Given the description of an element on the screen output the (x, y) to click on. 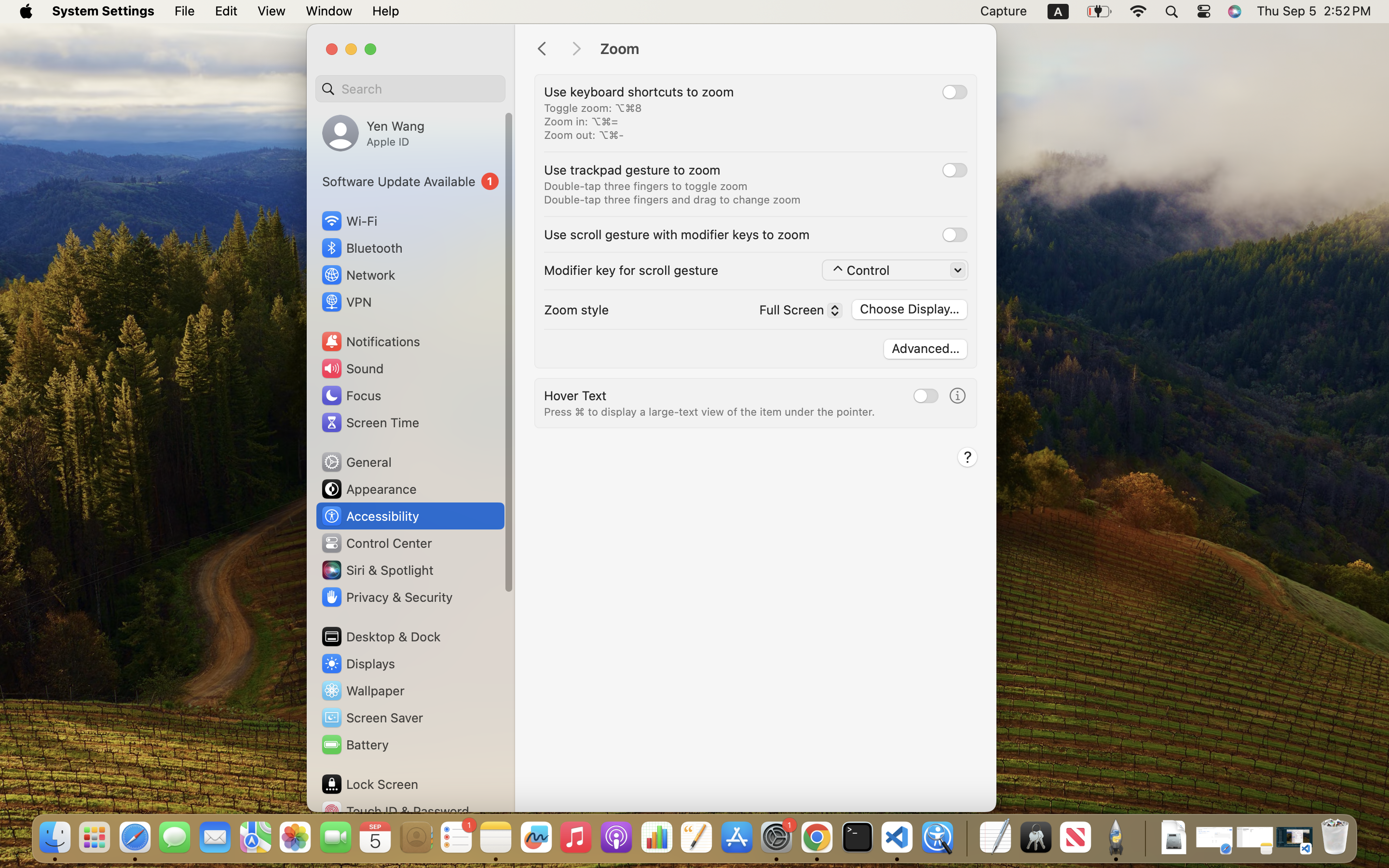
Focus Element type: AXStaticText (350, 394)
Full Screen Element type: AXPopUpButton (795, 311)
Appearance Element type: AXStaticText (368, 488)
